Given the description of an element on the screen output the (x, y) to click on. 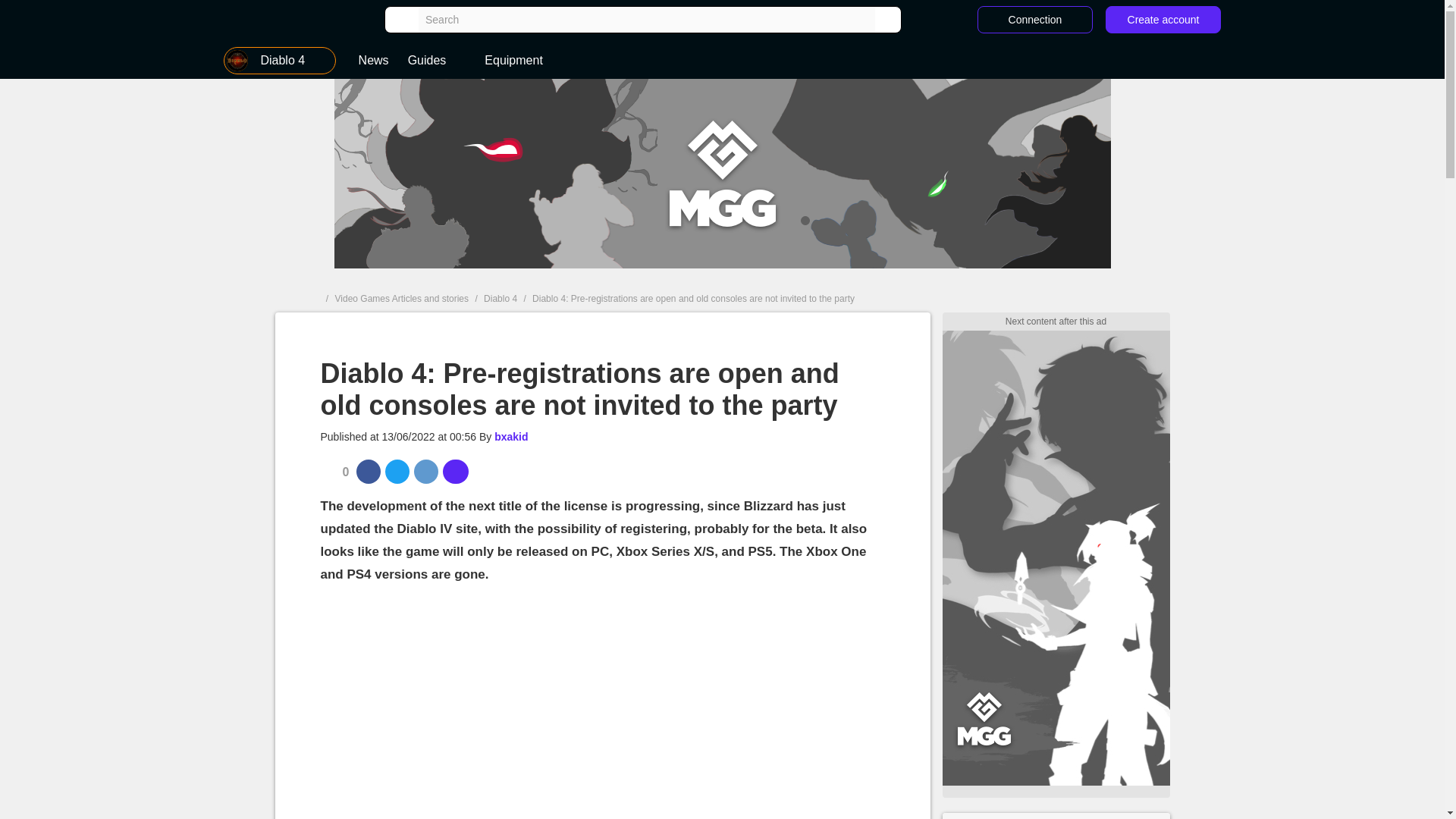
Connection (1034, 19)
Guides (437, 61)
Equipment (512, 61)
Diablo 4 (280, 60)
News (373, 61)
Create account (1163, 19)
